Given the description of an element on the screen output the (x, y) to click on. 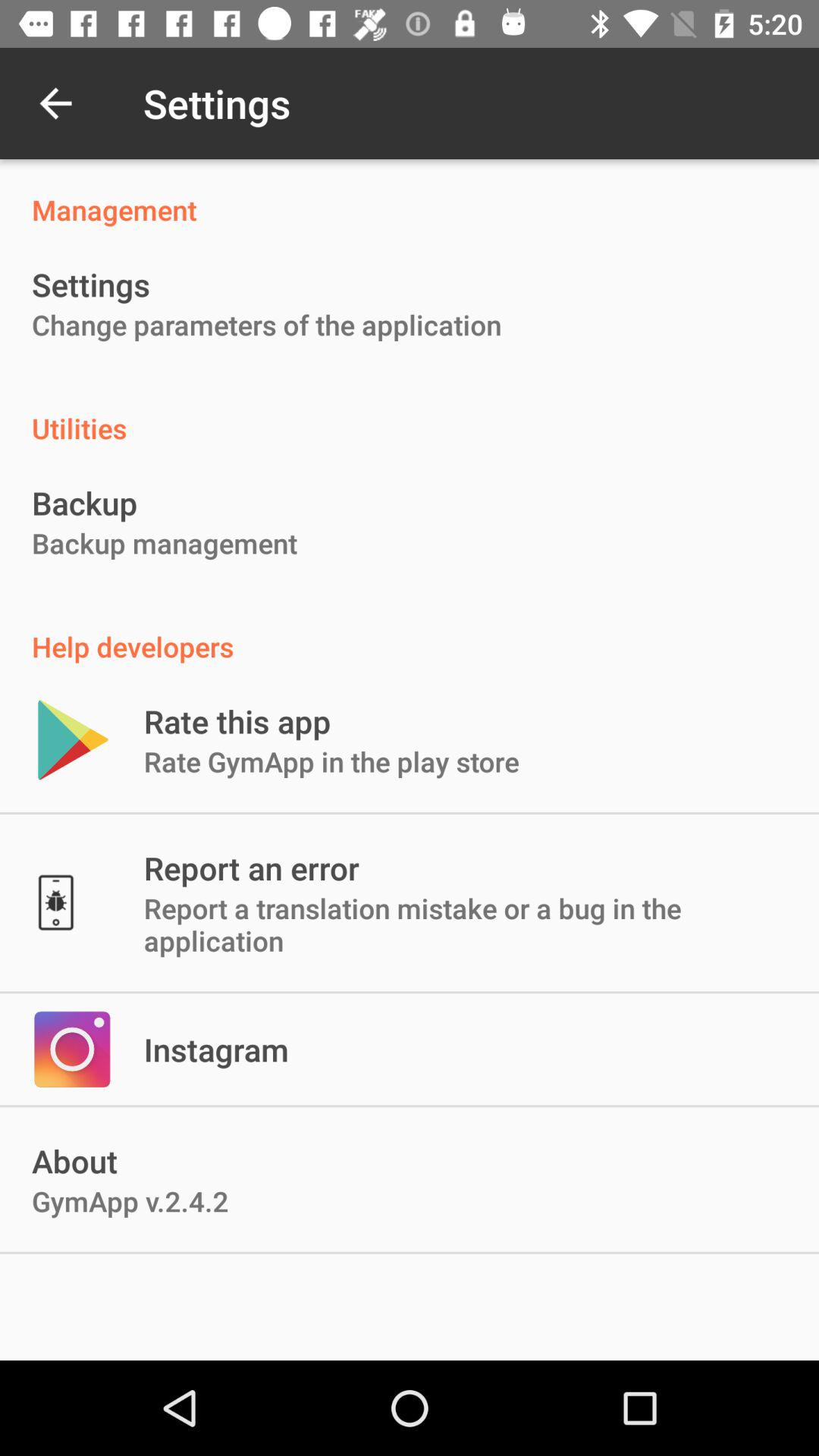
click item below the backup management item (409, 630)
